Given the description of an element on the screen output the (x, y) to click on. 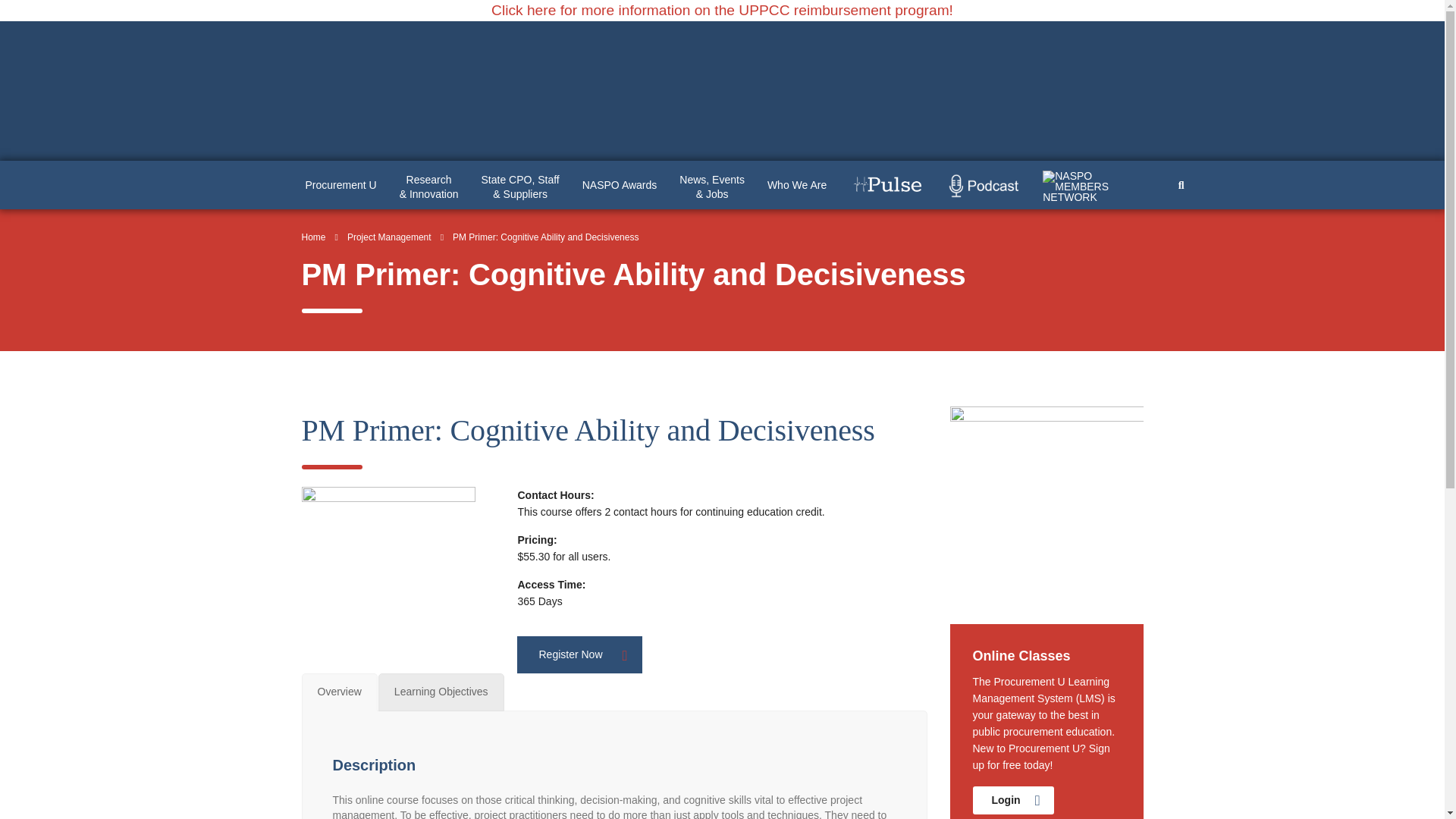
Procurement U (341, 184)
Go to NASPO. (313, 236)
NASPO Awards (619, 184)
Free Promo Website Image v3 (1045, 502)
Listen to Pulse Podcast (983, 186)
Go to the Project Management Categories archives. (388, 236)
